Given the description of an element on the screen output the (x, y) to click on. 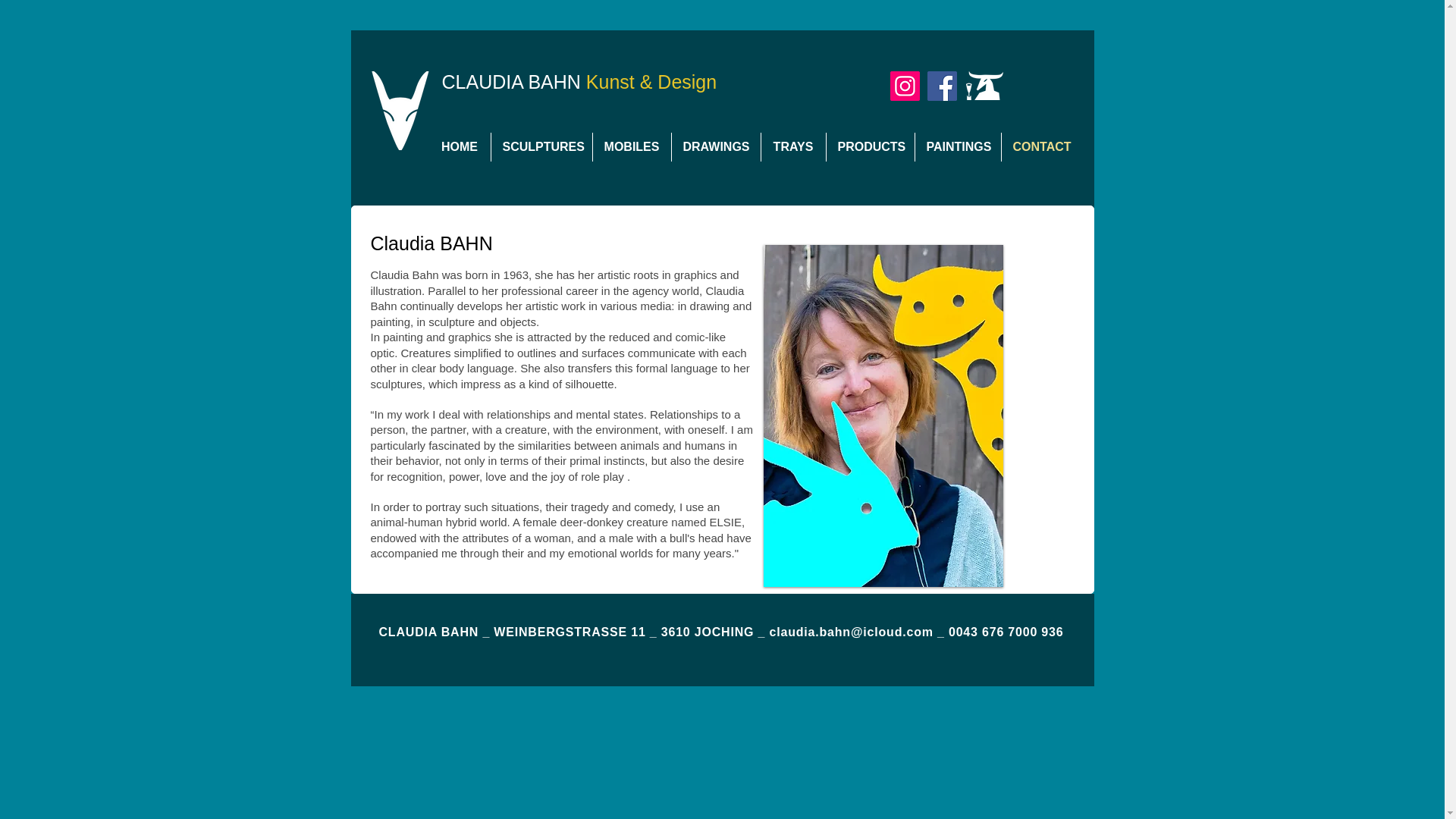
PRODUCTS (870, 146)
SCULPTURES (542, 146)
TRAYS (793, 146)
MOBILES (631, 146)
DRAWINGS (715, 146)
HOME (459, 146)
PAINTINGS (957, 146)
CONTACT (1039, 146)
